Given the description of an element on the screen output the (x, y) to click on. 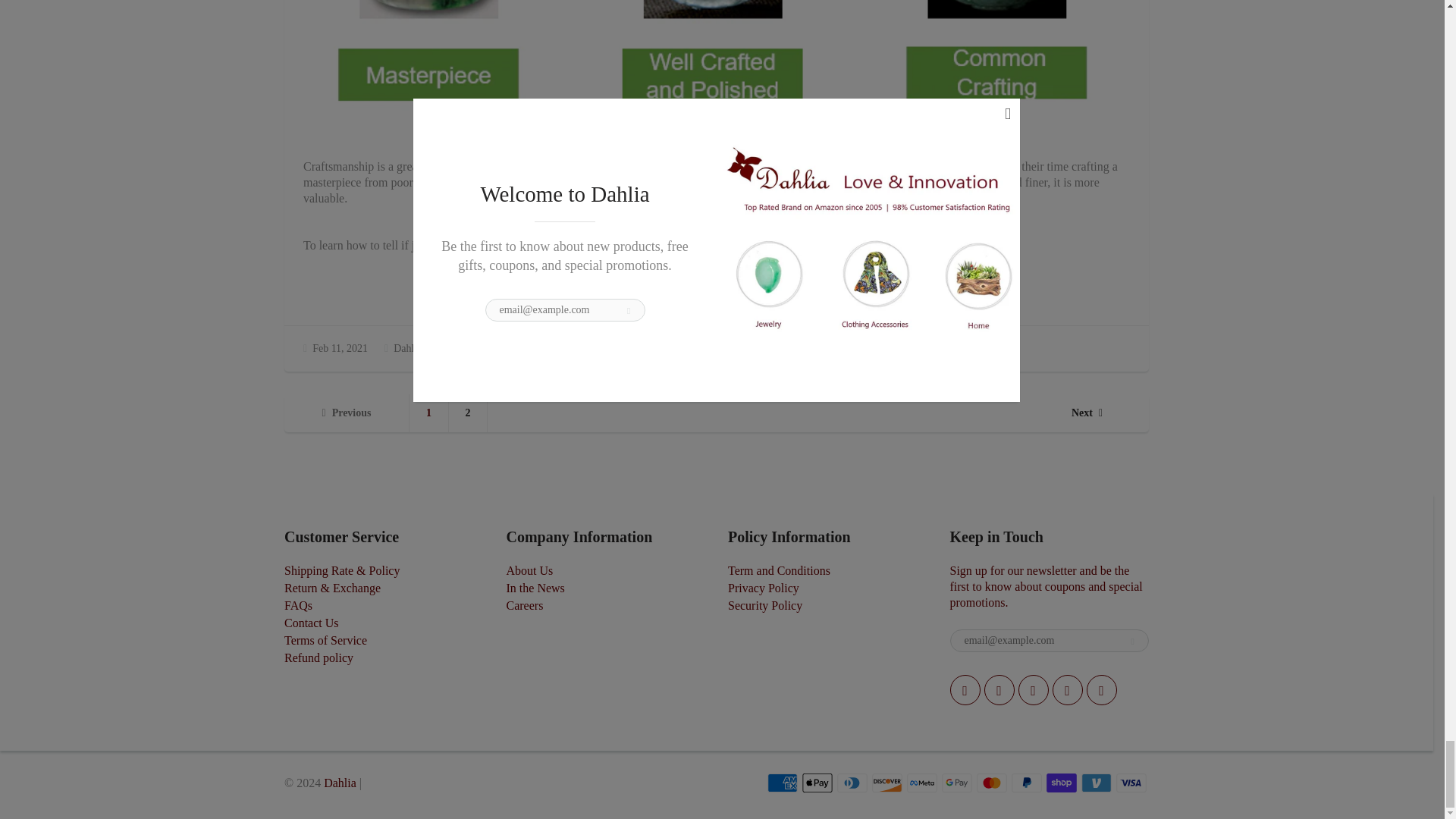
Google Pay (957, 782)
Visa (1131, 782)
Discover (887, 782)
Diners Club (852, 782)
Apple Pay (817, 782)
Facebook (999, 689)
PayPal (1026, 782)
Shop Pay (1061, 782)
Venmo (1096, 782)
American Express (782, 782)
Meta Pay (922, 782)
Mastercard (991, 782)
YouTube (1101, 689)
Twitter (964, 689)
